Given the description of an element on the screen output the (x, y) to click on. 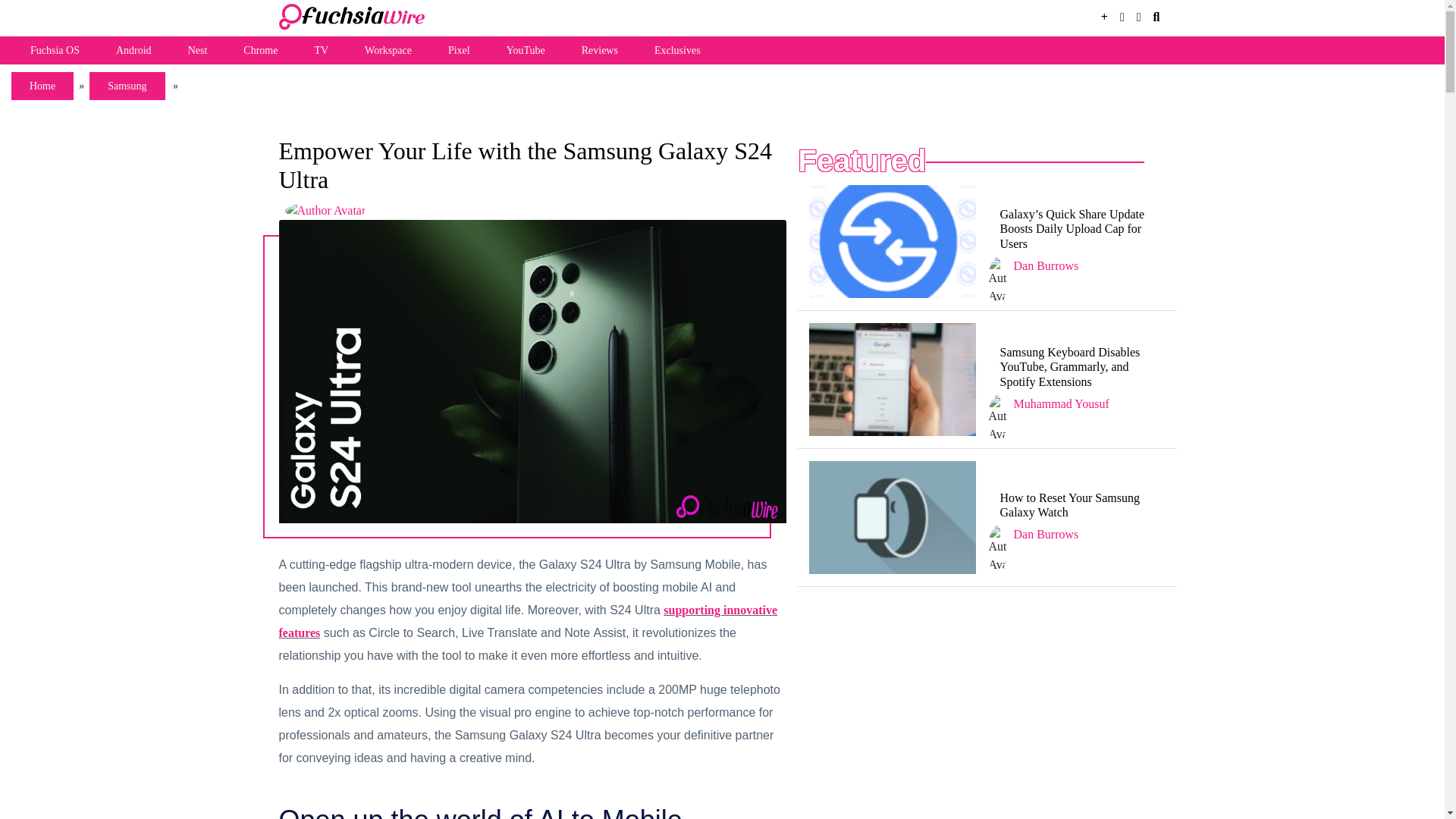
TV (320, 50)
Chrome (260, 50)
Fuchsia OS (54, 50)
Workspace (387, 50)
Android (133, 50)
Nest (197, 50)
